Given the description of an element on the screen output the (x, y) to click on. 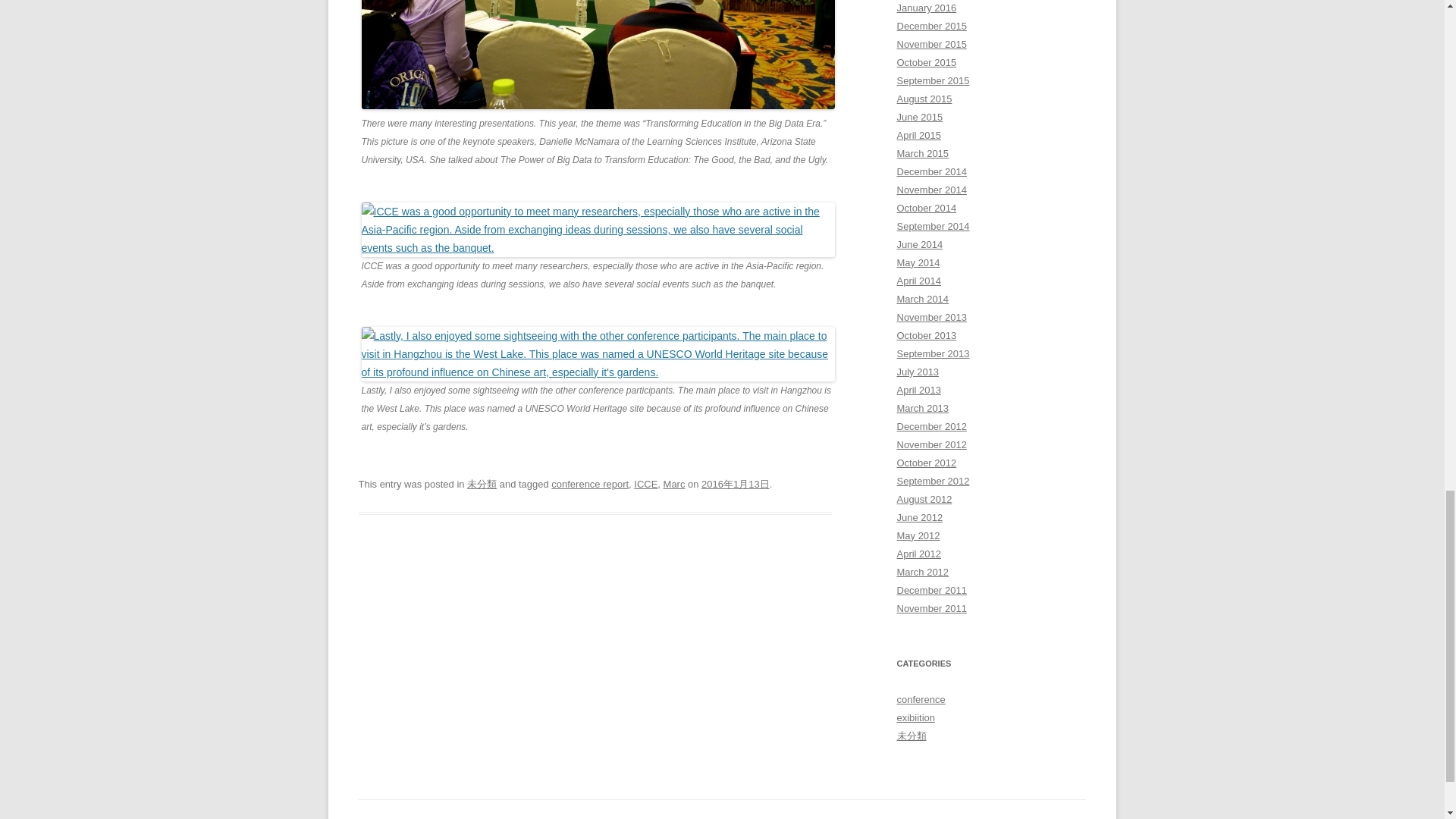
Marc (674, 483)
conference report (589, 483)
ICCE (645, 483)
4:50 PM (735, 483)
